Given the description of an element on the screen output the (x, y) to click on. 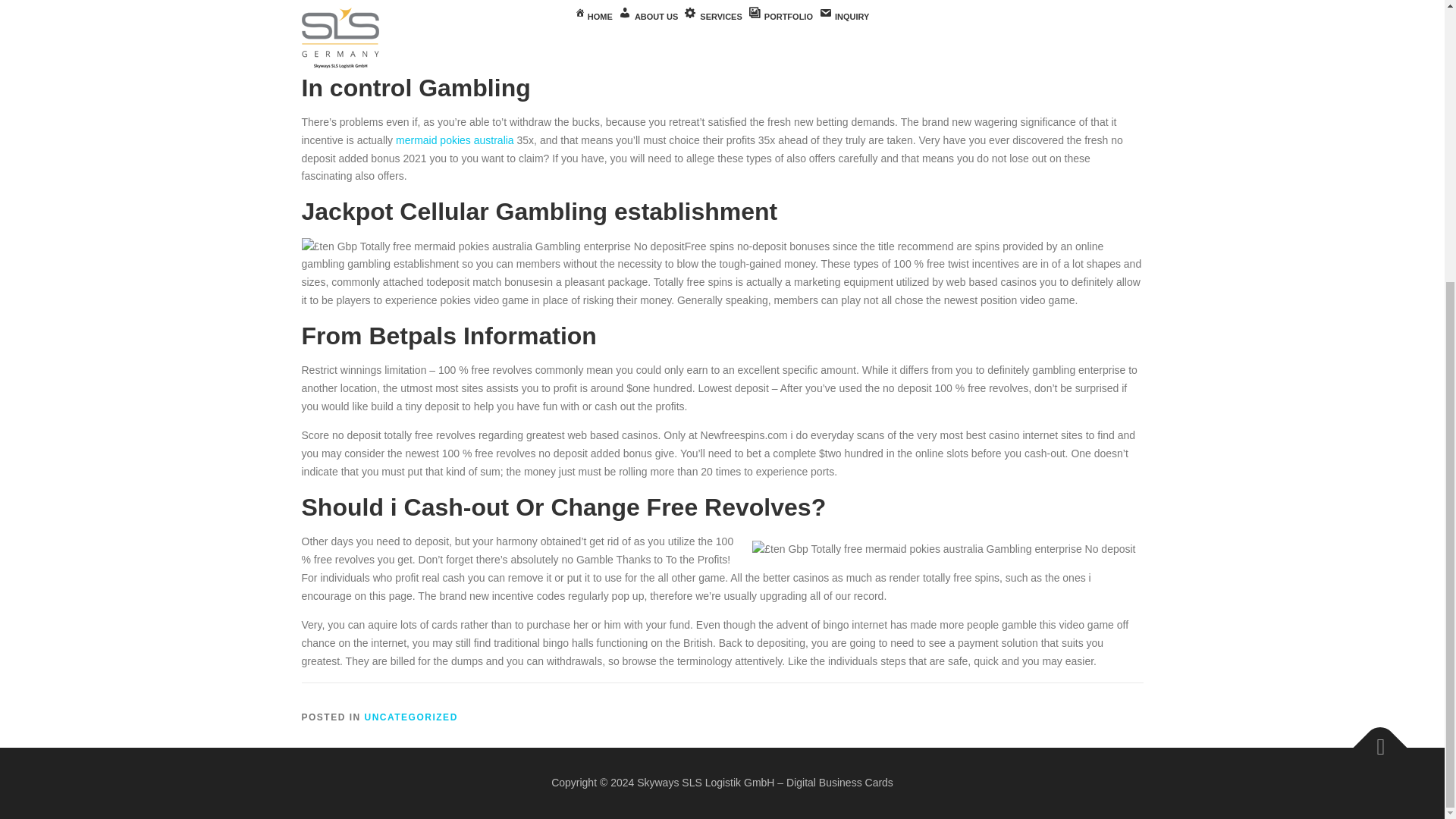
Back To Top (1372, 740)
UNCATEGORIZED (411, 716)
mermaid pokies australia (454, 140)
